Given the description of an element on the screen output the (x, y) to click on. 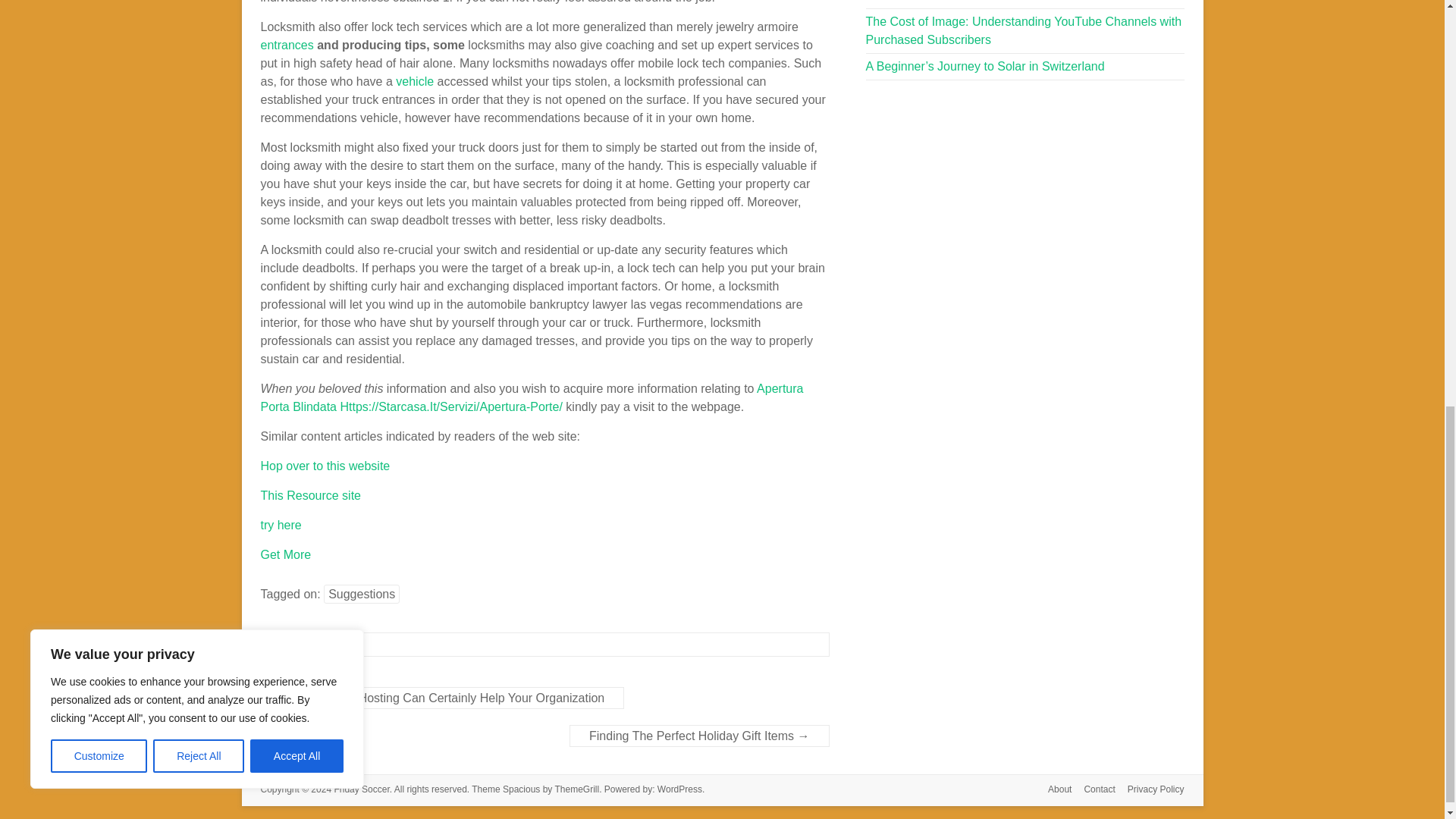
try here (280, 524)
General (301, 644)
Friday Soccer (360, 788)
This Resource site (310, 495)
Get More (285, 554)
Suggestions (360, 593)
WordPress (679, 788)
Hop over to this website (325, 465)
vehicle (414, 81)
entrances (287, 44)
